Given the description of an element on the screen output the (x, y) to click on. 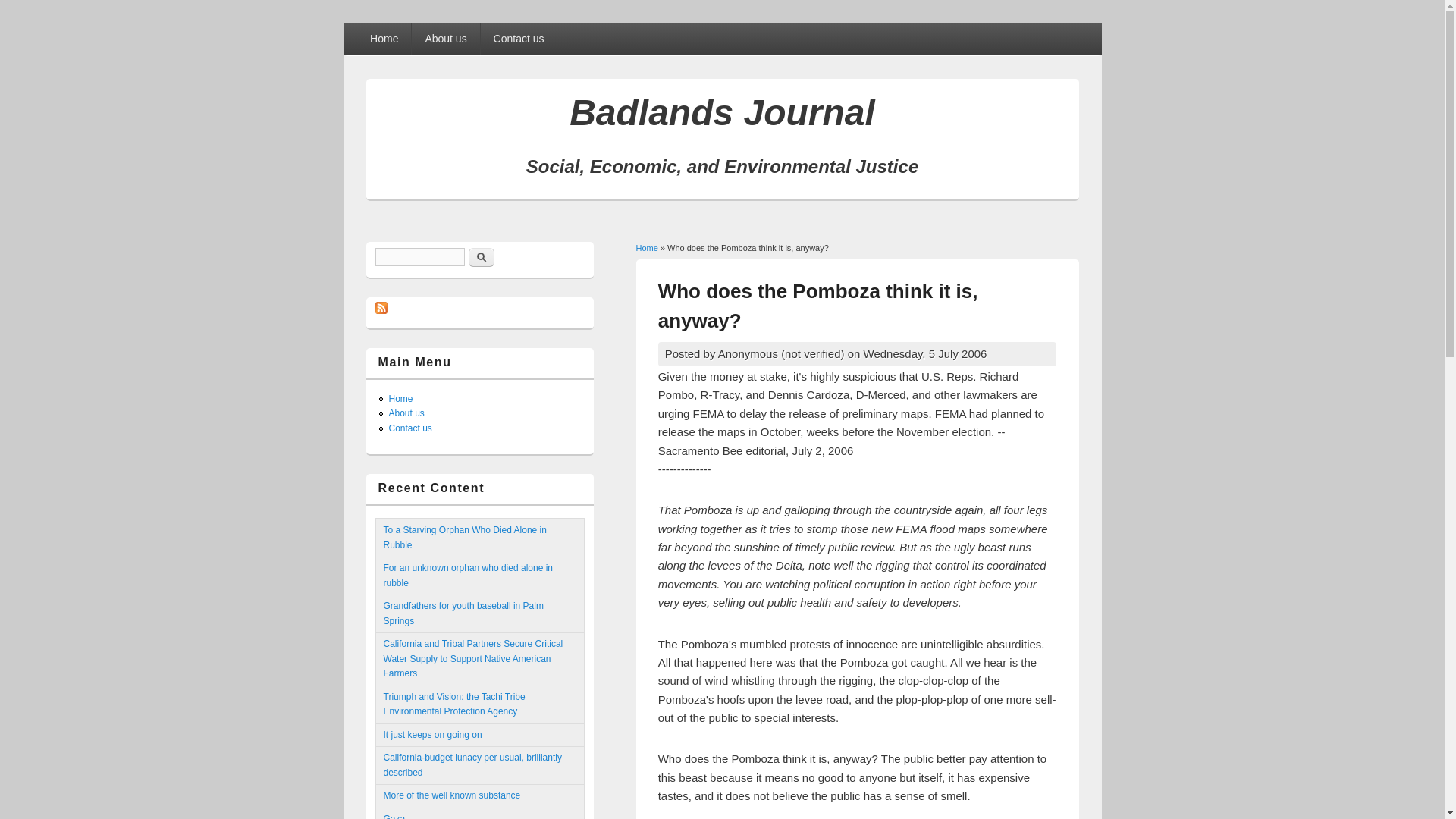
Contact us (518, 38)
Home (646, 247)
For an unknown orphan who died alone in rubble (468, 575)
Gaza (395, 816)
Contact us (409, 428)
Grandfathers for youth baseball in Palm Springs (463, 613)
Search (481, 257)
Enter the terms you wish to search for. (419, 257)
Search (481, 257)
California-budget lunacy per usual, brilliantly described (473, 765)
About us (405, 412)
It just keeps on going on (432, 734)
Home (383, 38)
More of the well known substance (452, 795)
